Given the description of an element on the screen output the (x, y) to click on. 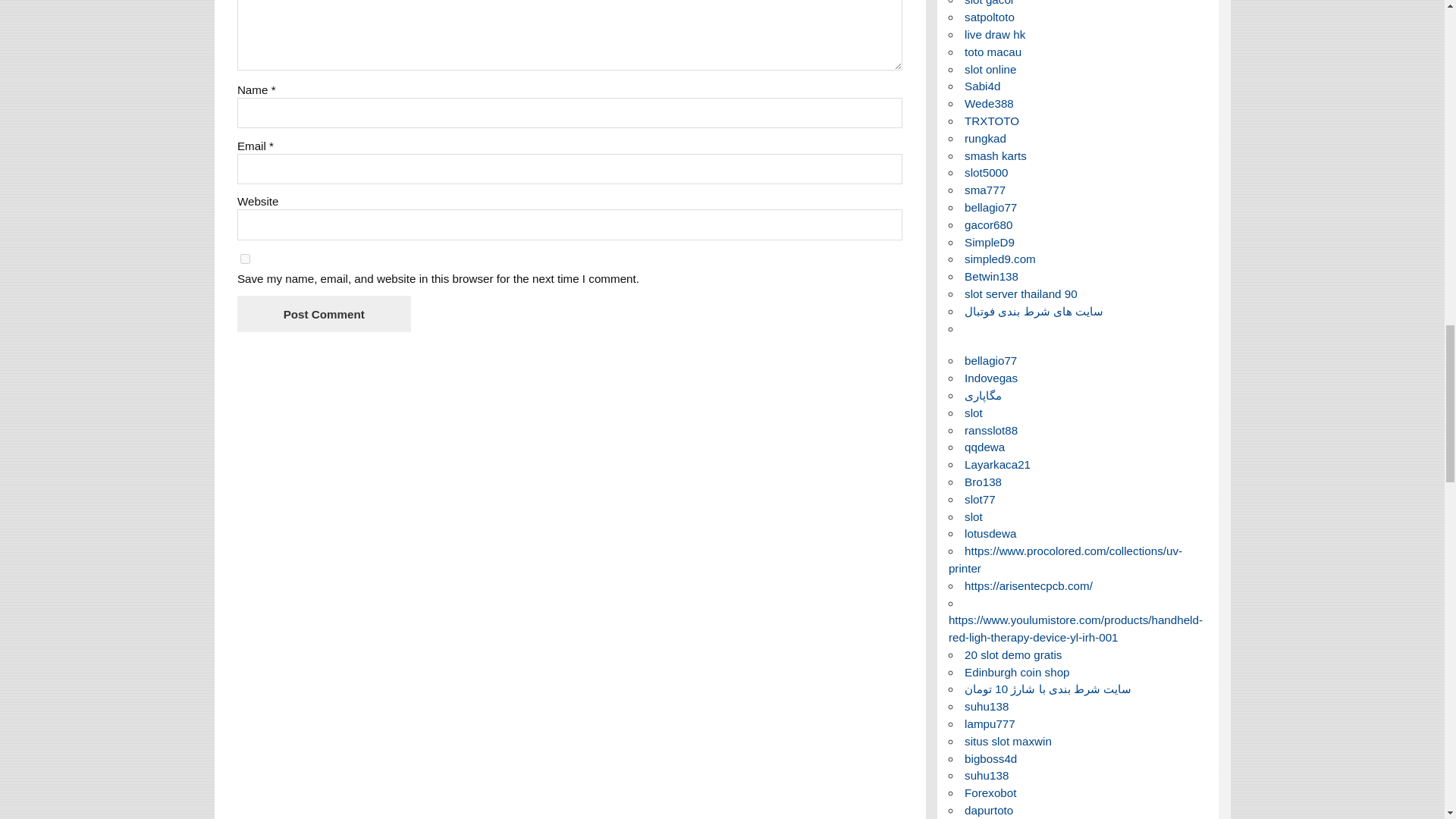
Post Comment (323, 313)
yes (245, 258)
Post Comment (323, 313)
